Given the description of an element on the screen output the (x, y) to click on. 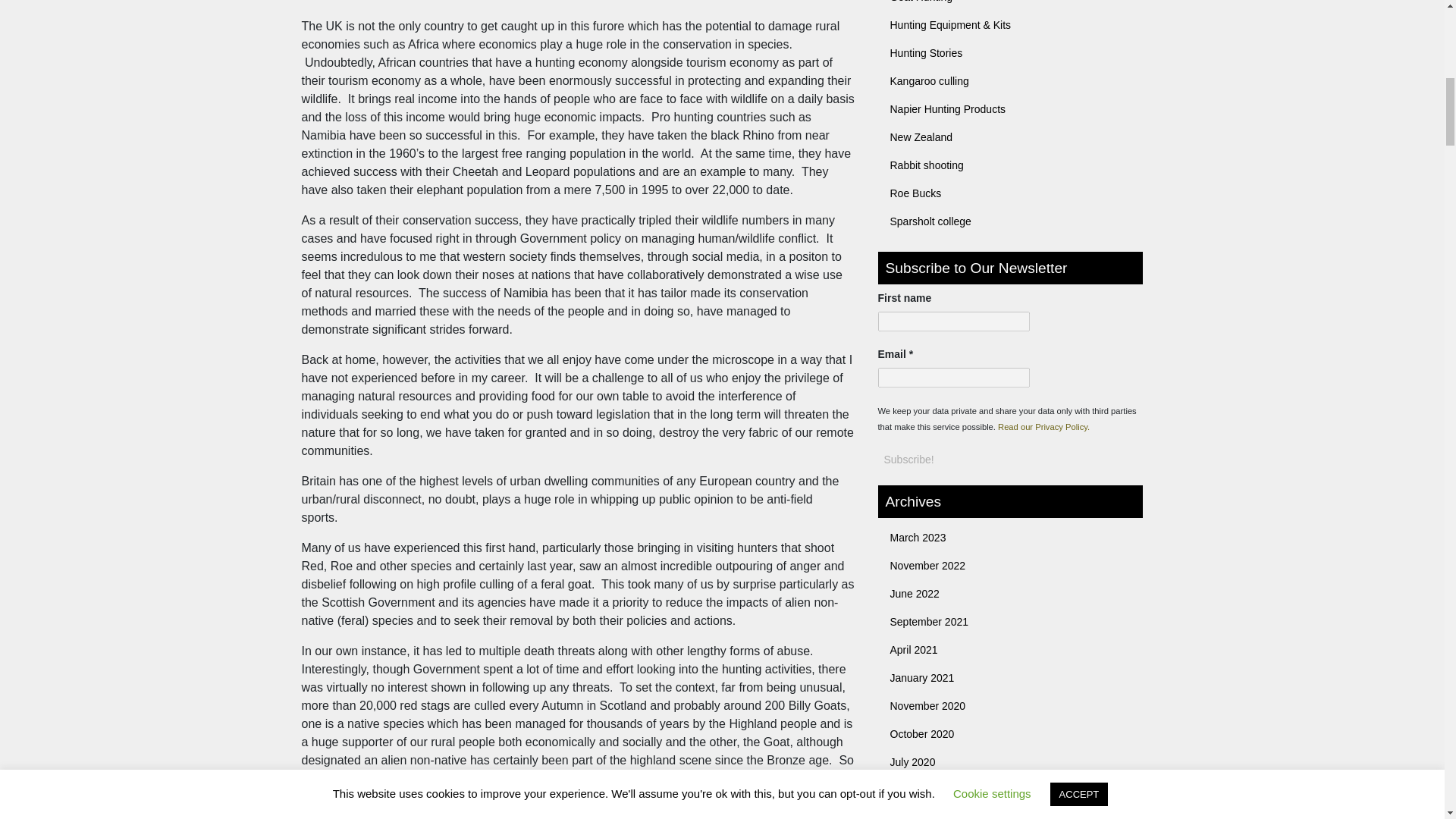
Subscribe! (908, 459)
